Given the description of an element on the screen output the (x, y) to click on. 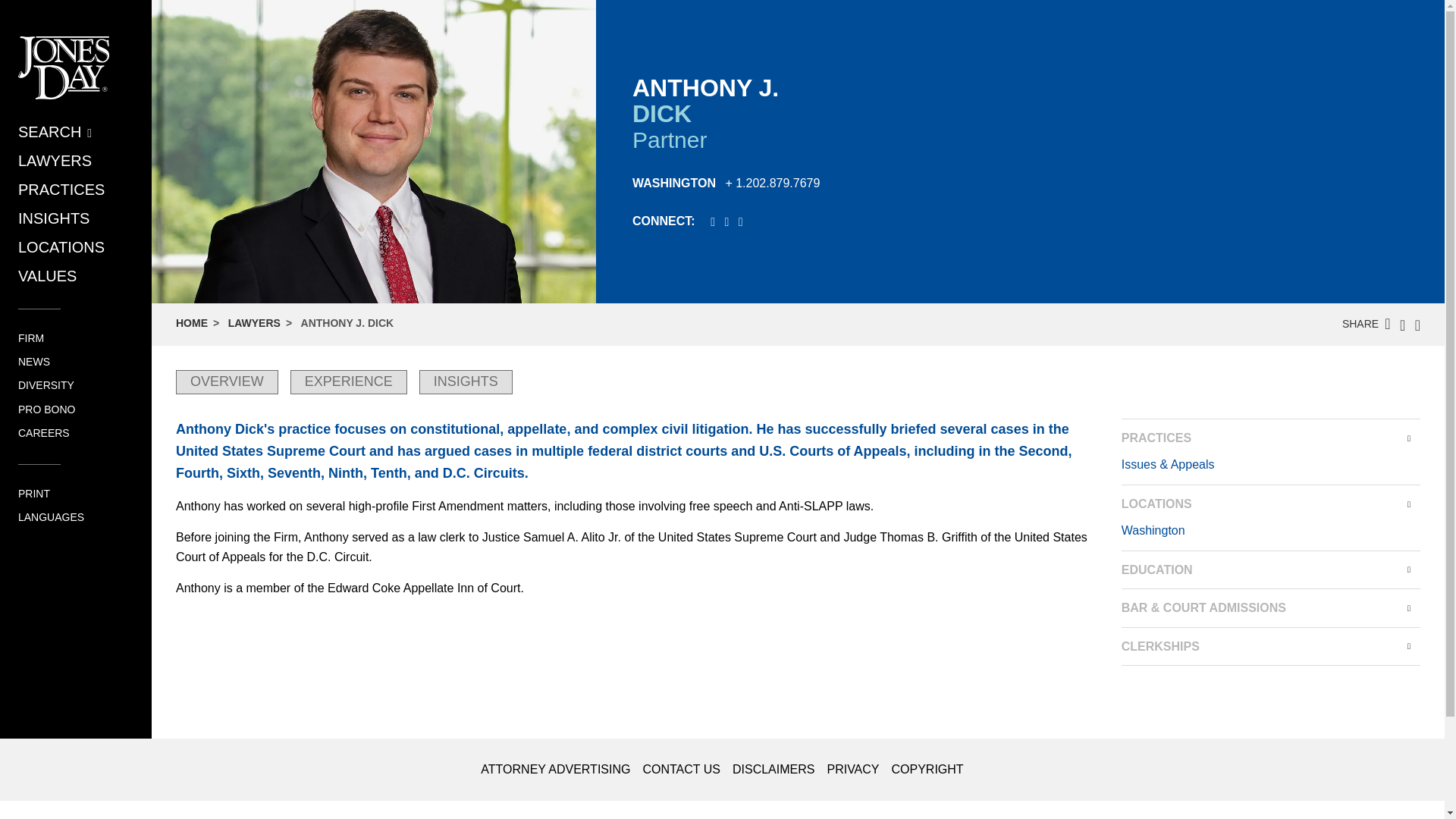
PRACTICES (60, 189)
PRINT (33, 493)
LOCATIONS (60, 247)
FIRM (30, 337)
INSIGHTS (52, 217)
LANGUAGES (50, 517)
LAWYERS (54, 160)
VALUES (47, 275)
NEWS (33, 361)
DIVERSITY (45, 385)
PRO BONO (46, 409)
HOME (192, 322)
CAREERS (43, 432)
SEARCH (54, 131)
